Given the description of an element on the screen output the (x, y) to click on. 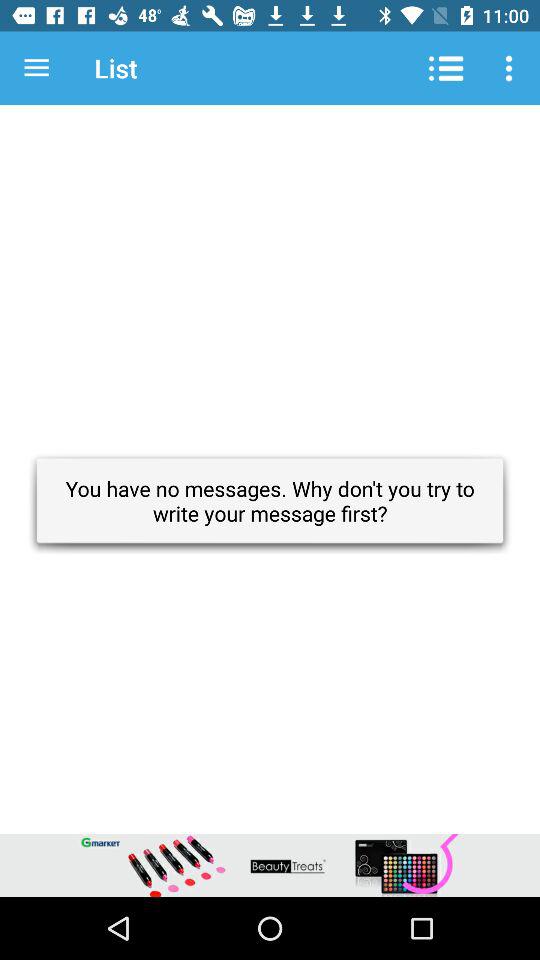
select the icon next to the list item (36, 68)
